Given the description of an element on the screen output the (x, y) to click on. 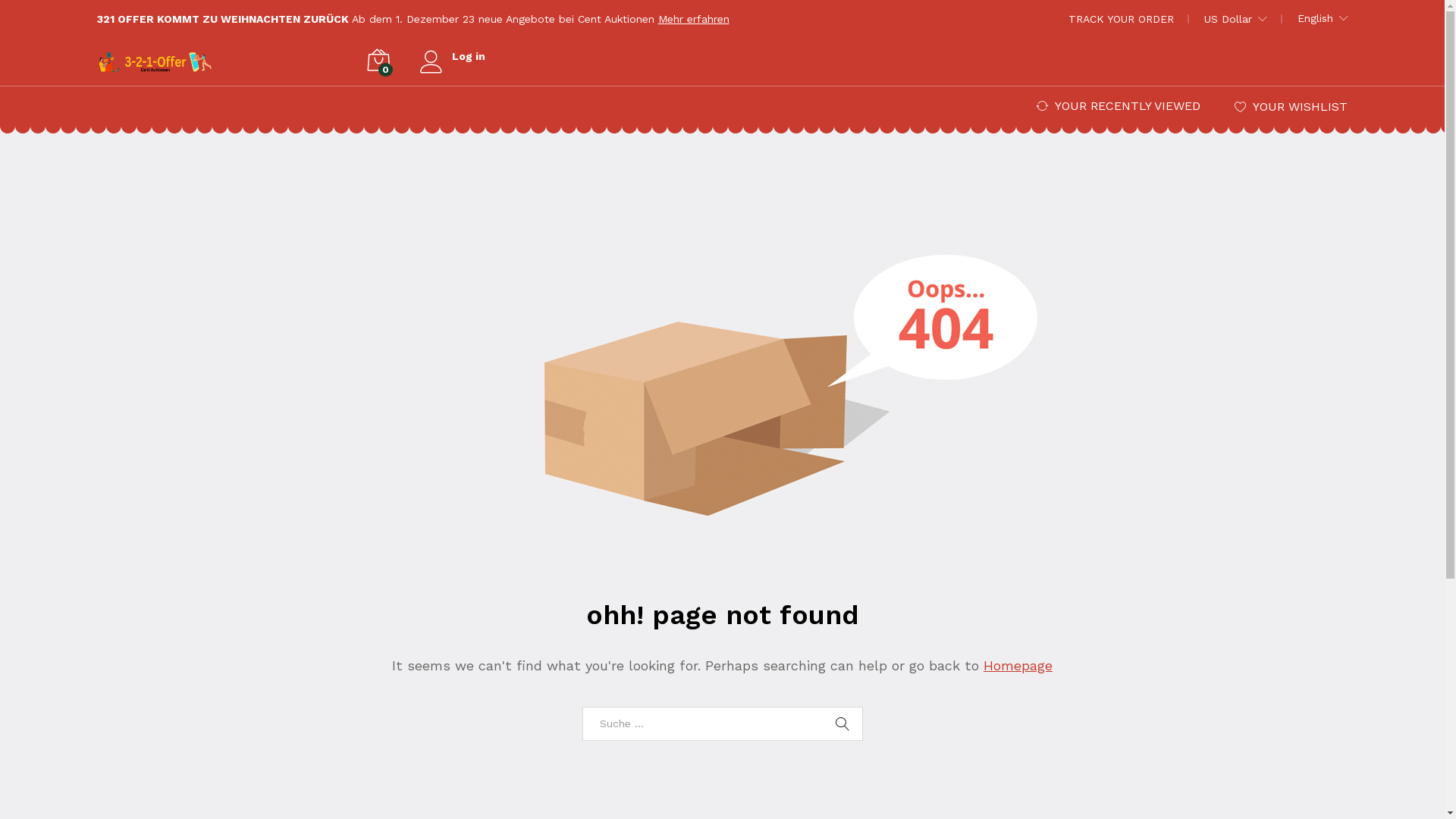
Mehr erfahren Element type: text (693, 18)
TRACK YOUR ORDER Element type: text (1120, 18)
Log in Element type: text (452, 56)
French Element type: text (1364, 60)
EUROPEAN EURO Element type: text (1303, 83)
YOUR WISHLIST Element type: text (1290, 106)
0 Element type: text (378, 61)
Suche Element type: text (843, 724)
German Element type: text (1364, 84)
US DOLLAR Element type: text (1289, 61)
English Element type: text (1321, 17)
Homepage Element type: text (1017, 665)
